Given the description of an element on the screen output the (x, y) to click on. 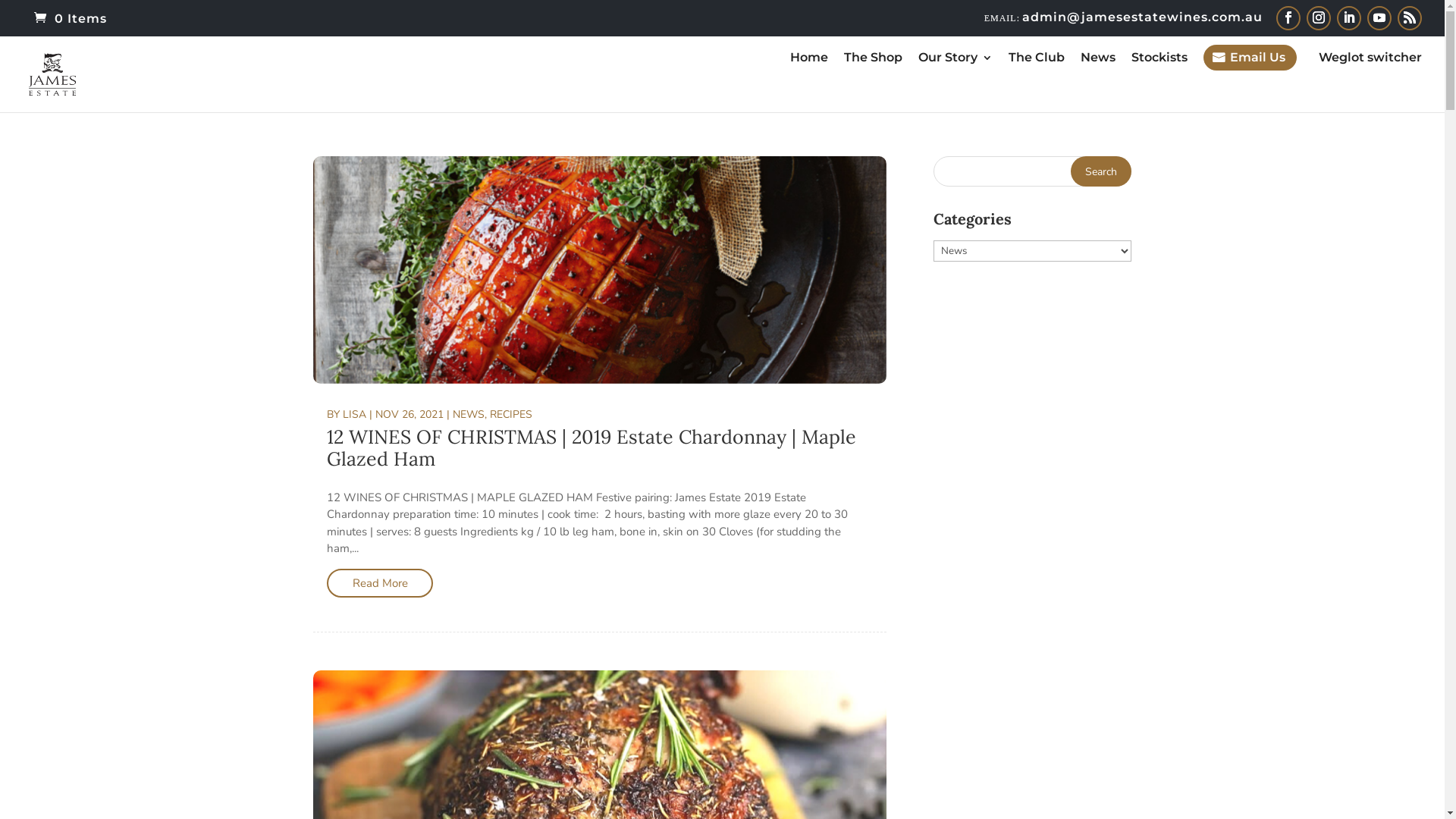
News Element type: text (1097, 82)
Weglot switcher Element type: text (1369, 82)
The Club Element type: text (1036, 82)
Read More Element type: text (379, 582)
Stockists Element type: text (1159, 82)
Home Element type: text (809, 82)
NEWS Element type: text (468, 414)
Our Story Element type: text (955, 82)
admin@jamesestatewines.com.au Element type: text (1123, 16)
0 Items Element type: text (70, 18)
Search Element type: text (1100, 171)
LISA Element type: text (354, 414)
Email Us Element type: text (1249, 57)
The Shop Element type: text (873, 82)
RECIPES Element type: text (510, 414)
